Given the description of an element on the screen output the (x, y) to click on. 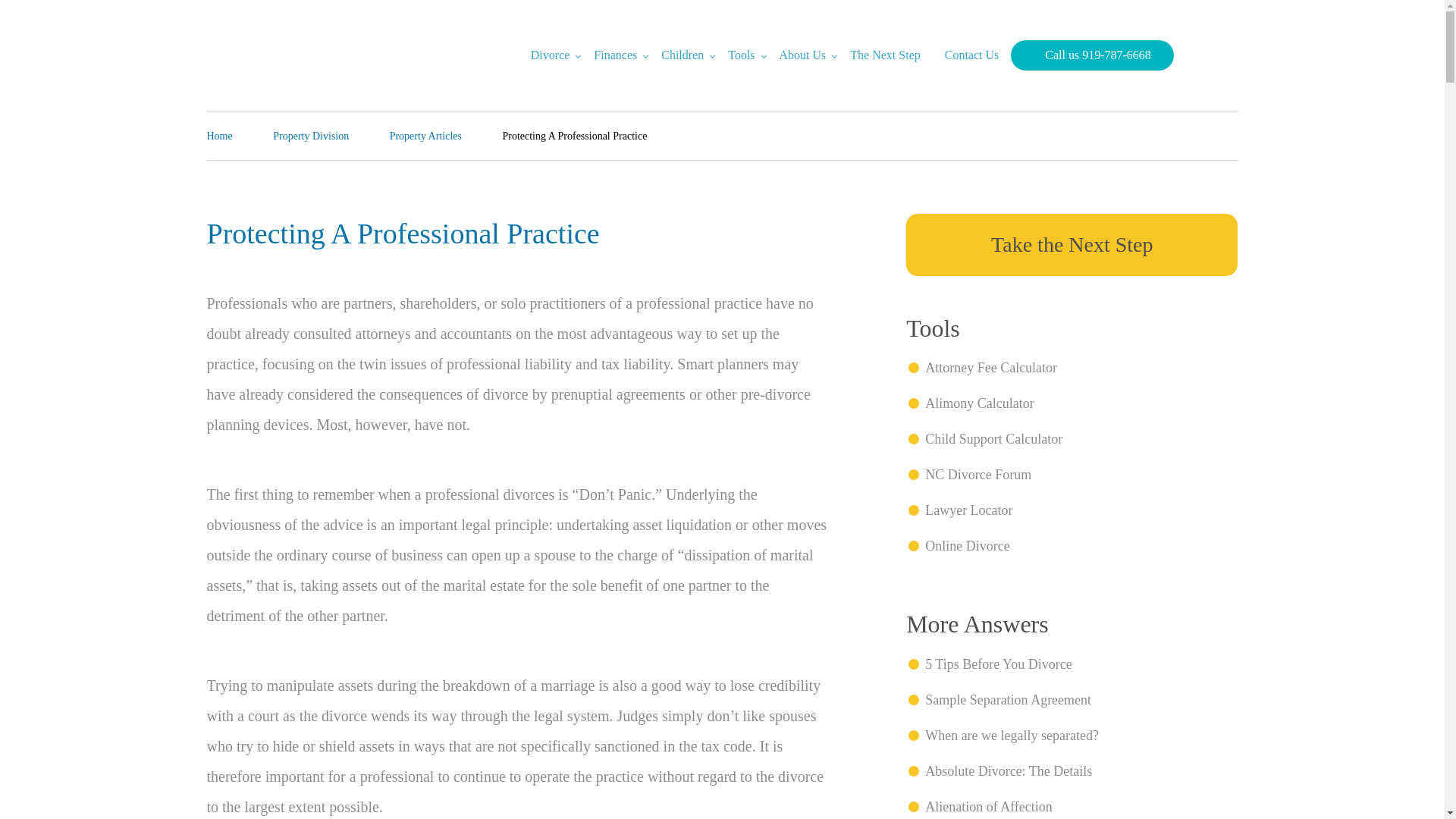
Finances (614, 54)
Children (682, 54)
About Us (802, 54)
Tools (741, 54)
Divorce (550, 54)
